Given the description of an element on the screen output the (x, y) to click on. 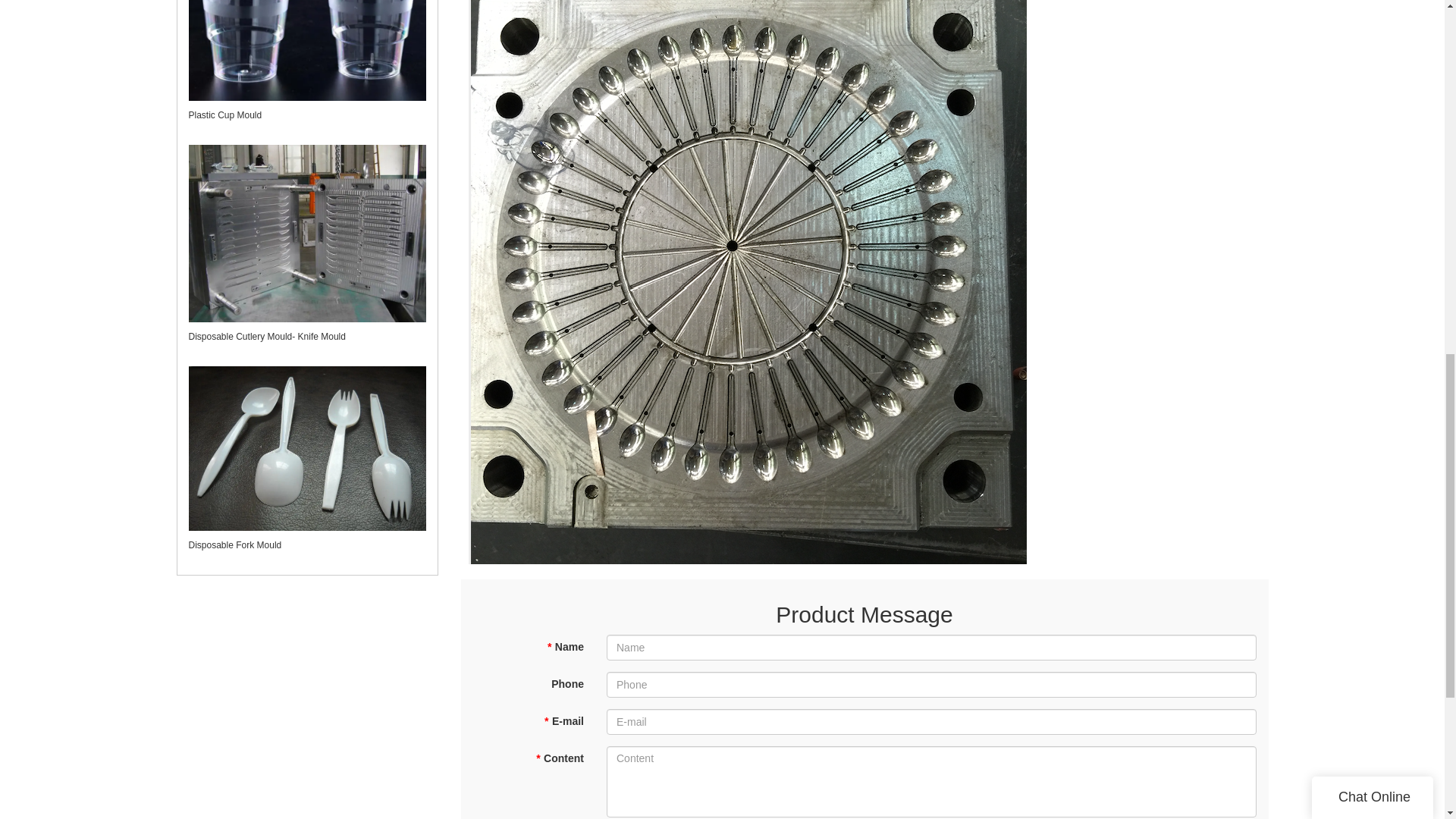
Disposable Cutlery Mould- Knife Mould (266, 336)
Plastic Cup Mould (224, 114)
